Given the description of an element on the screen output the (x, y) to click on. 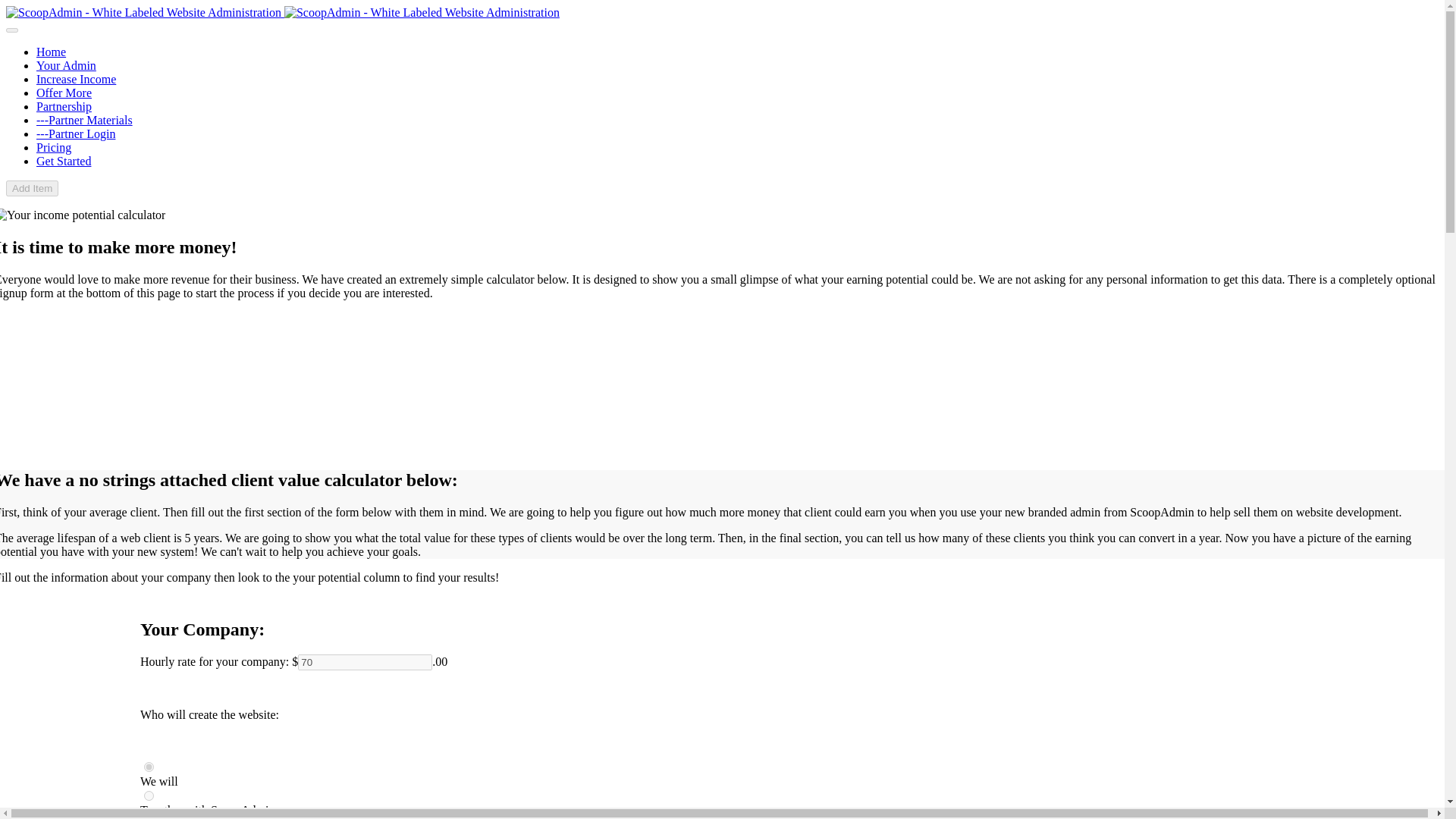
Your Admin (66, 65)
Partnership (63, 106)
---Partner Login (75, 133)
---Partner Materials (84, 119)
Home (50, 51)
Get Started (63, 160)
My Company (149, 767)
Pricing (53, 146)
Offer More (63, 92)
My Company with Scoop Admin (149, 795)
